Given the description of an element on the screen output the (x, y) to click on. 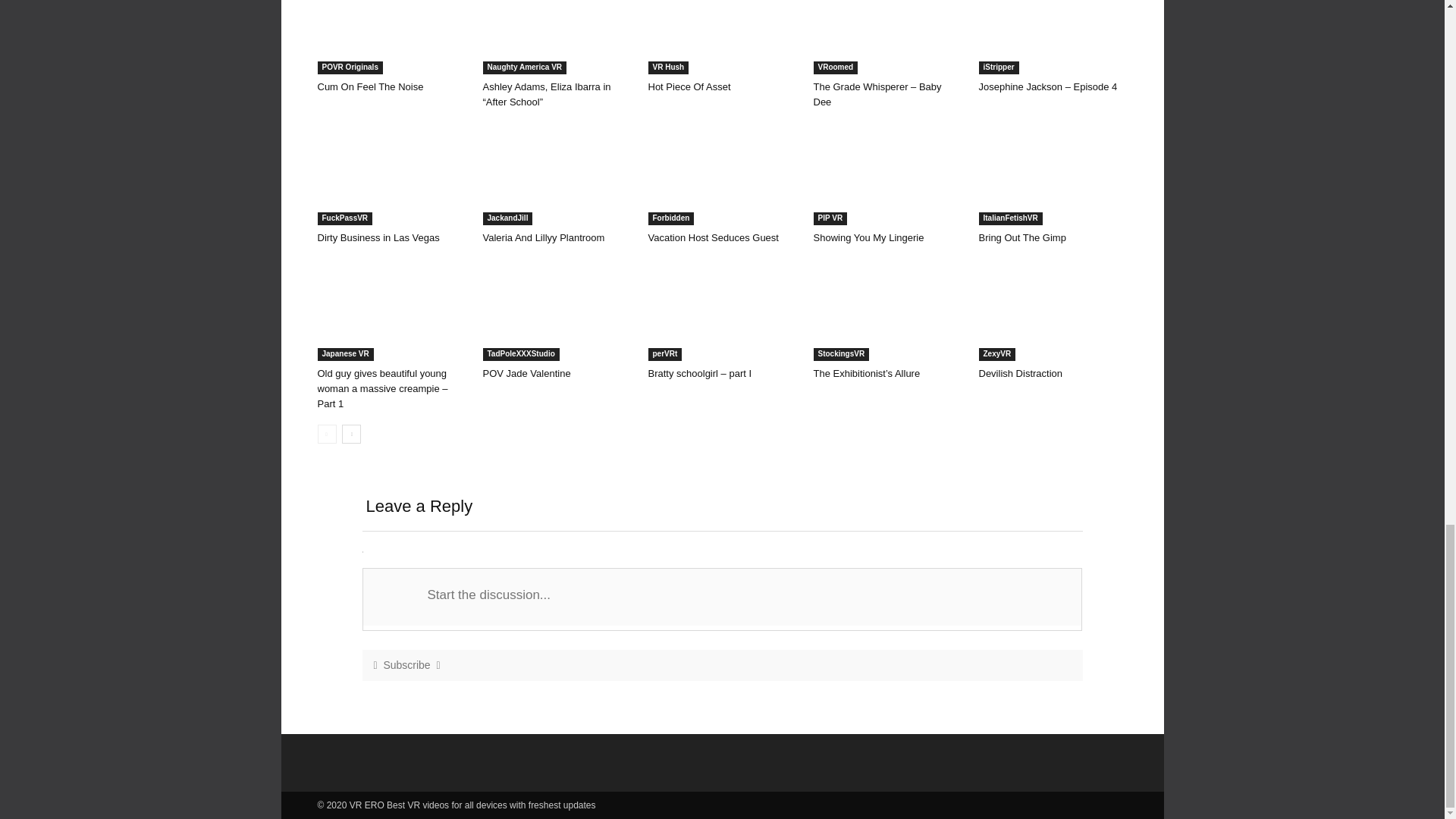
Hot Piece Of Asset (688, 86)
Cum On Feel The Noise (370, 86)
Cum On Feel The Noise (391, 37)
Hot Piece Of Asset (721, 37)
